Given the description of an element on the screen output the (x, y) to click on. 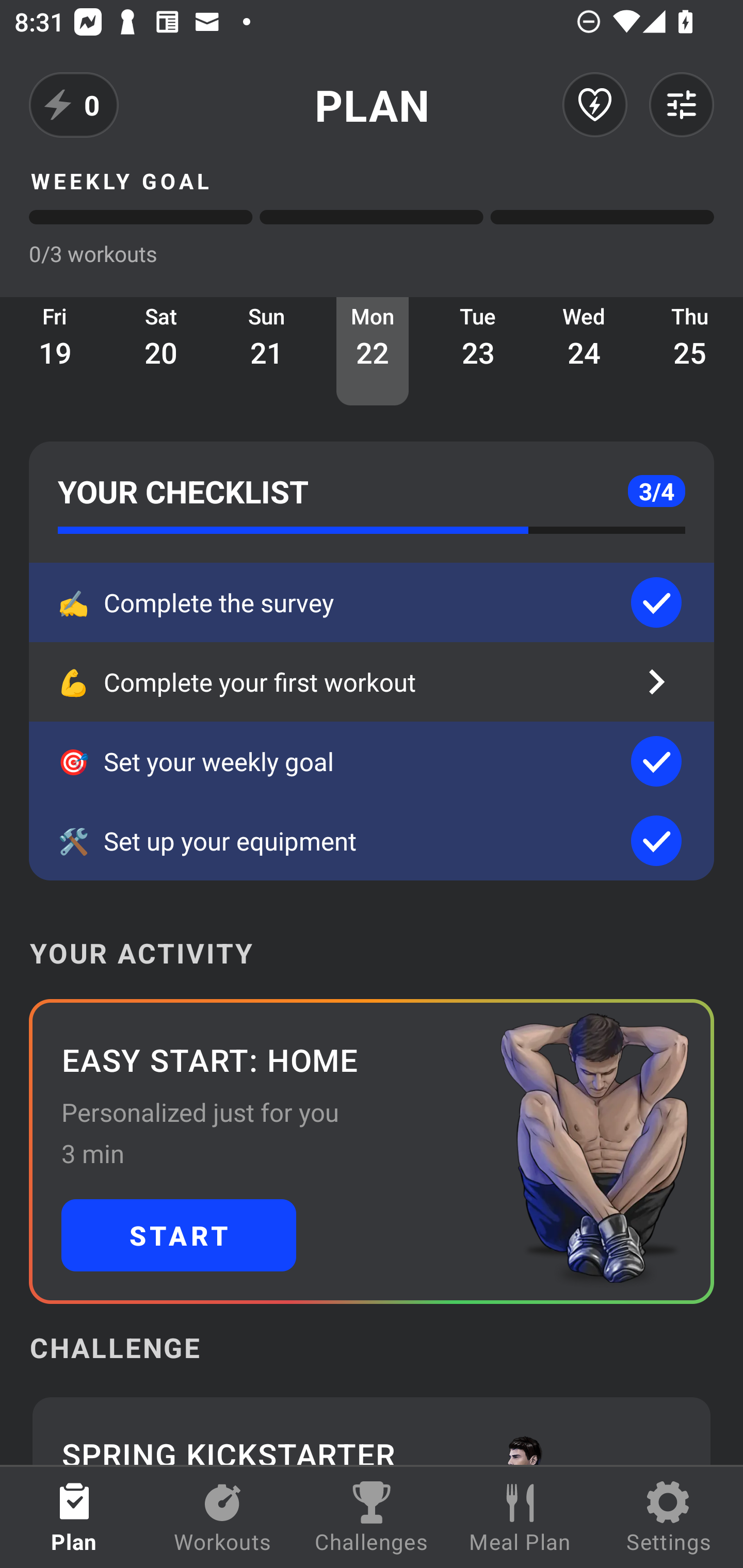
0 (73, 104)
Fri 19 (55, 351)
Sat 20 (160, 351)
Sun 21 (266, 351)
Mon 22 (372, 351)
Tue 23 (478, 351)
Wed 24 (584, 351)
Thu 25 (690, 351)
💪 Complete your first workout (371, 681)
START (178, 1235)
 Workouts  (222, 1517)
 Challenges  (371, 1517)
 Meal Plan  (519, 1517)
 Settings  (668, 1517)
